Given the description of an element on the screen output the (x, y) to click on. 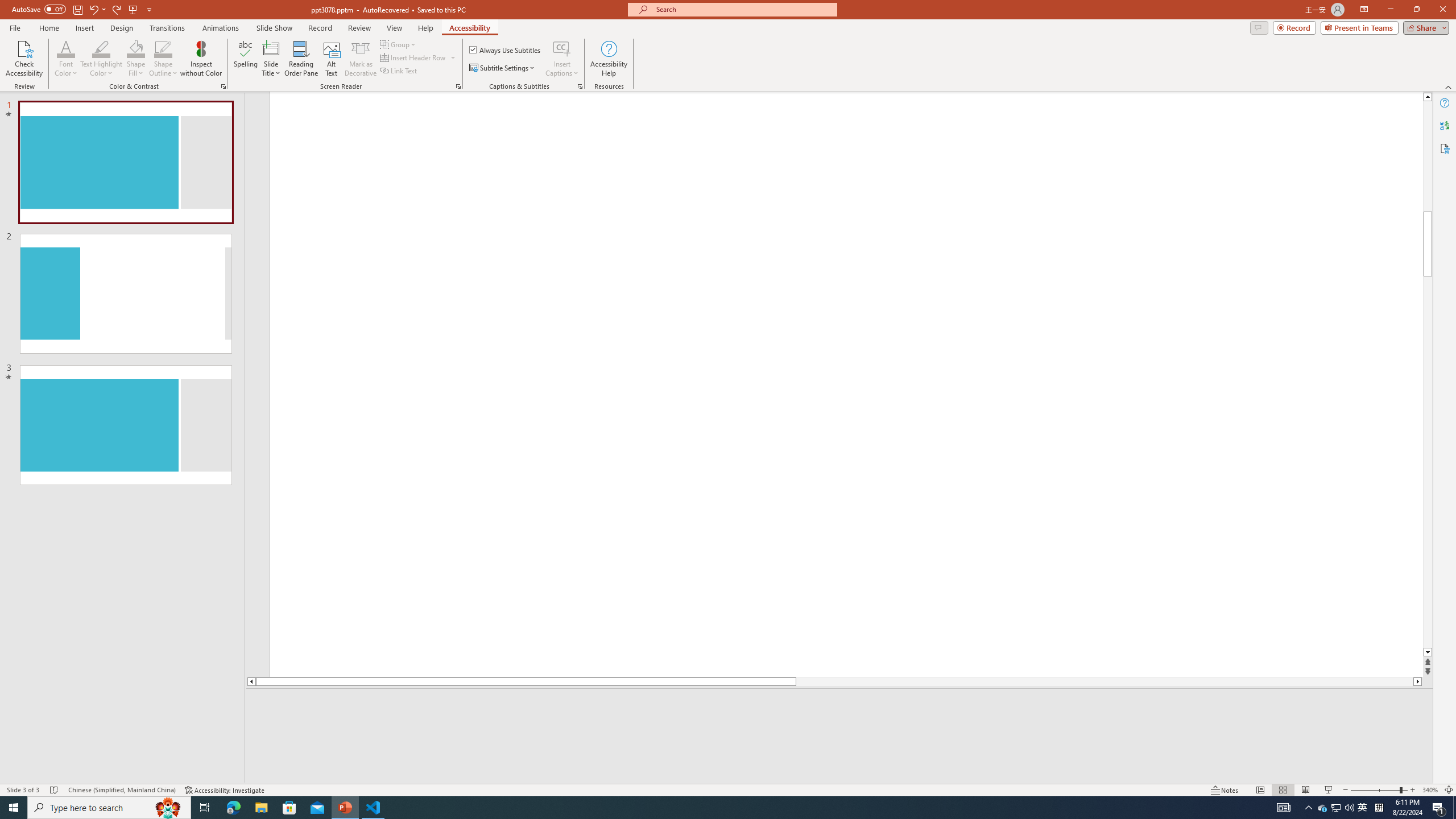
Link Text (399, 69)
